Given the description of an element on the screen output the (x, y) to click on. 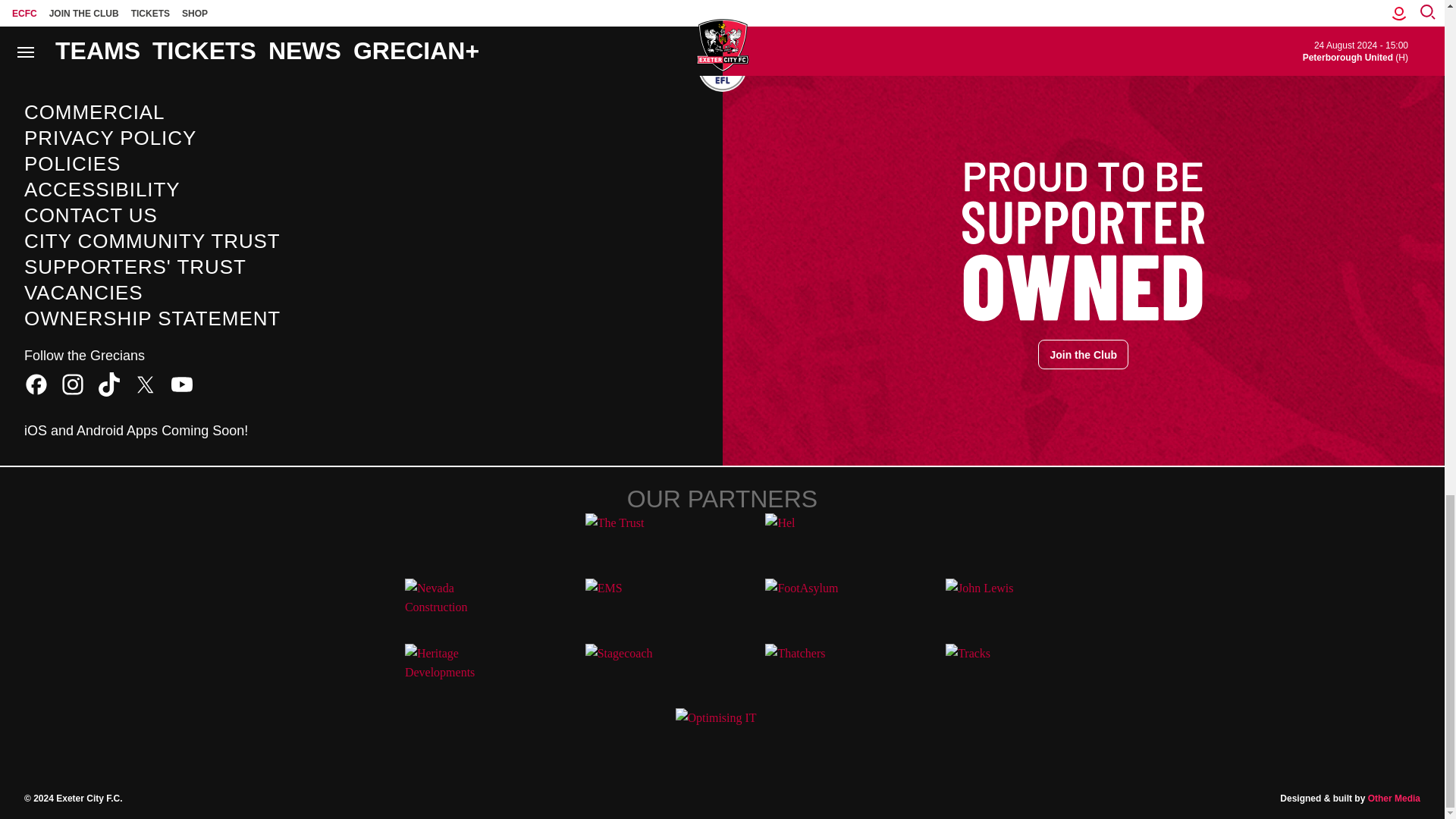
Stagecoach (632, 669)
Thatchers (812, 669)
X Formally know as Twitter (145, 384)
Optimising IT (721, 734)
Nevada Construction  (451, 604)
The Trust (632, 539)
HEL (812, 539)
John Lewis (991, 604)
Facebook (36, 384)
EMS (632, 604)
